Given the description of an element on the screen output the (x, y) to click on. 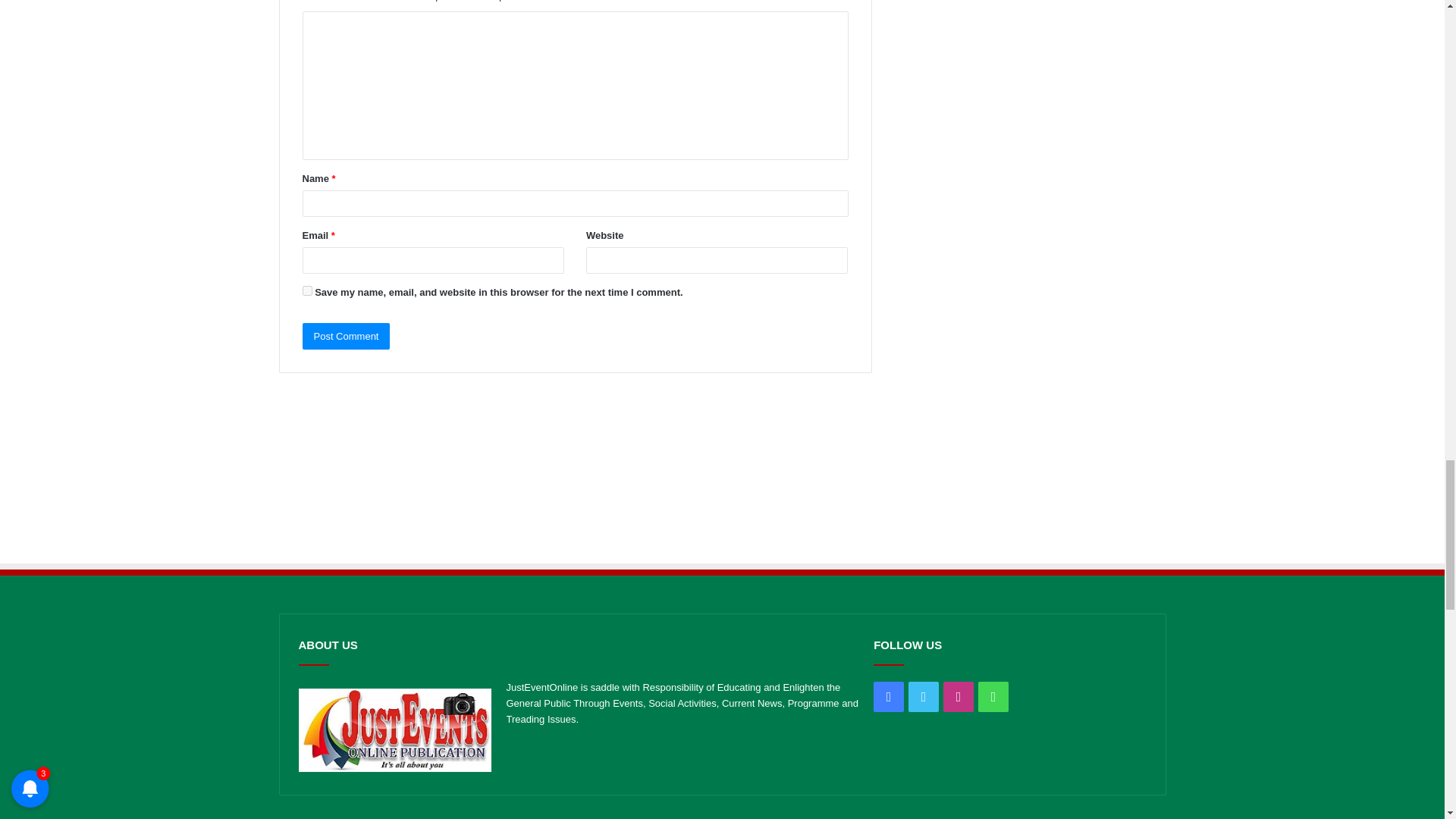
Post Comment (345, 335)
yes (306, 290)
